Given the description of an element on the screen output the (x, y) to click on. 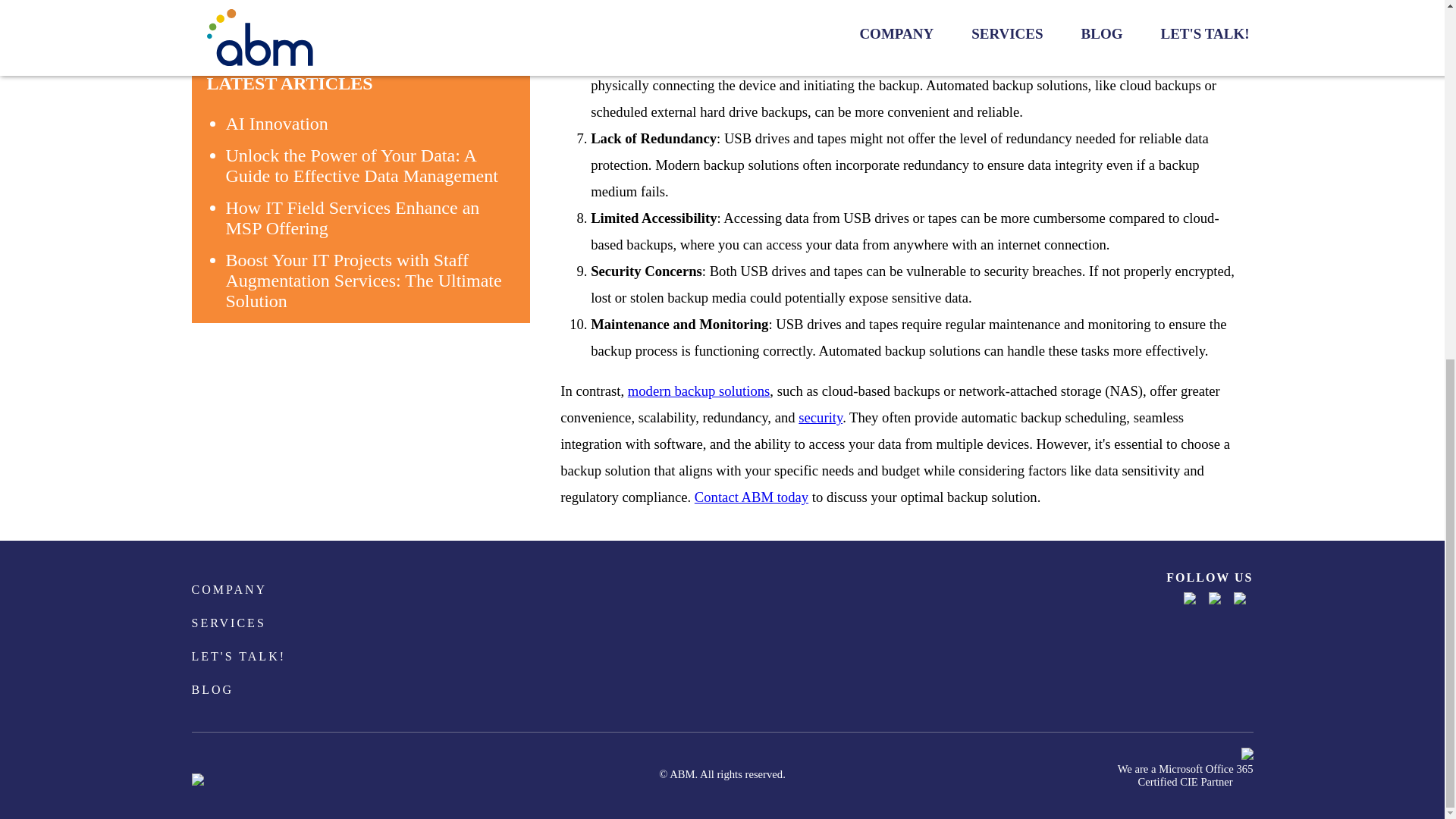
AI Innovation (277, 123)
COMPANY (228, 593)
Talk with ABM Today! (751, 496)
LET'S TALK! (237, 660)
BLOG (211, 693)
SERVICES (227, 626)
Managed Service Backups (698, 390)
security (820, 417)
